Given the description of an element on the screen output the (x, y) to click on. 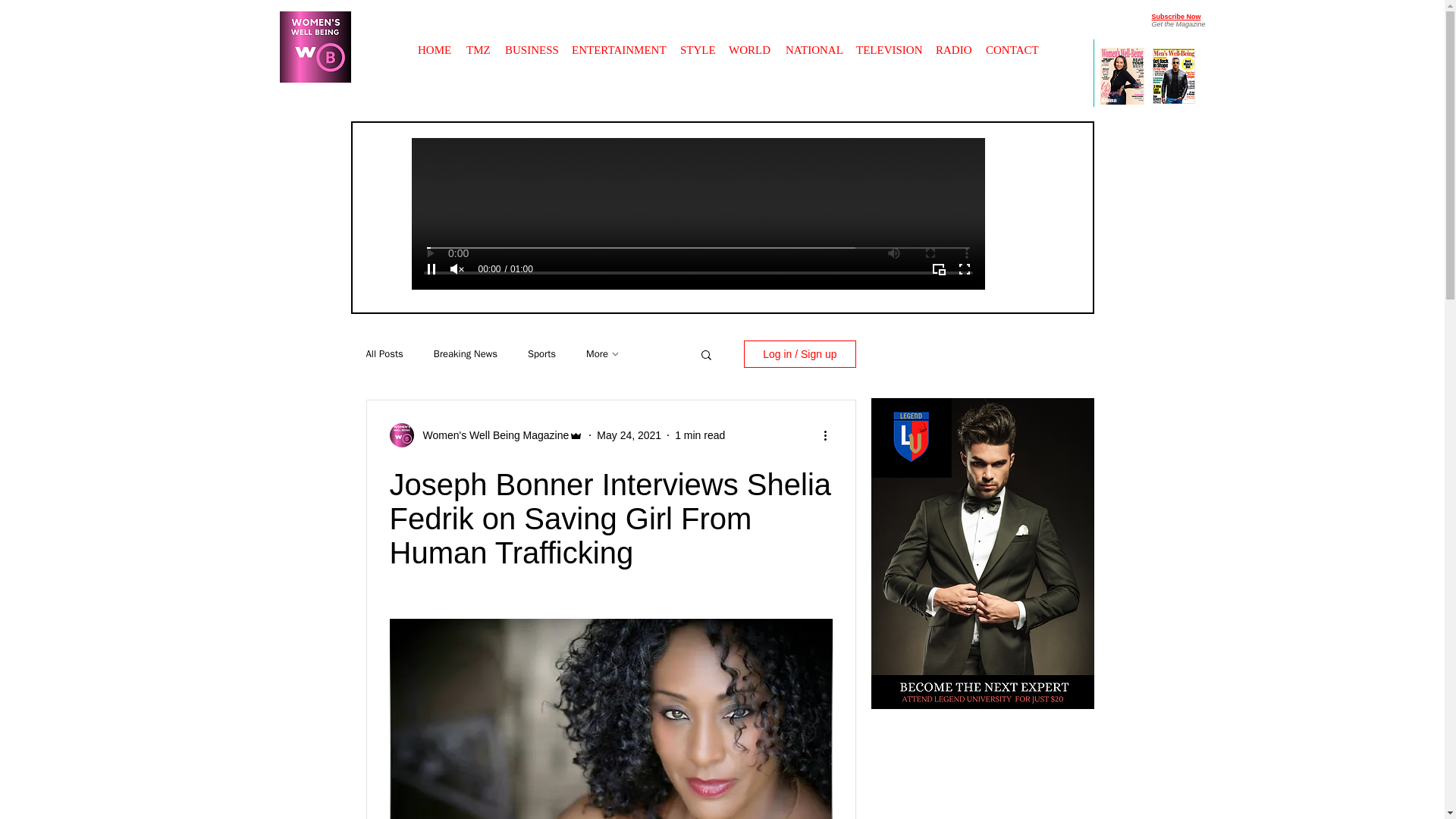
HOME (434, 42)
Breaking News (465, 354)
BUSINESS (530, 42)
WORLD (748, 42)
Subscribe Now (1175, 16)
NATIONAL (812, 42)
Get the Magazine (1178, 23)
Embedded Content (557, 12)
Women's Well Being Magazine  (491, 435)
ENTERTAINMENT (618, 42)
Sports (541, 354)
Embedded Content (721, 217)
Embedded Content (905, 237)
TMZ (477, 42)
All Posts (384, 354)
